Given the description of an element on the screen output the (x, y) to click on. 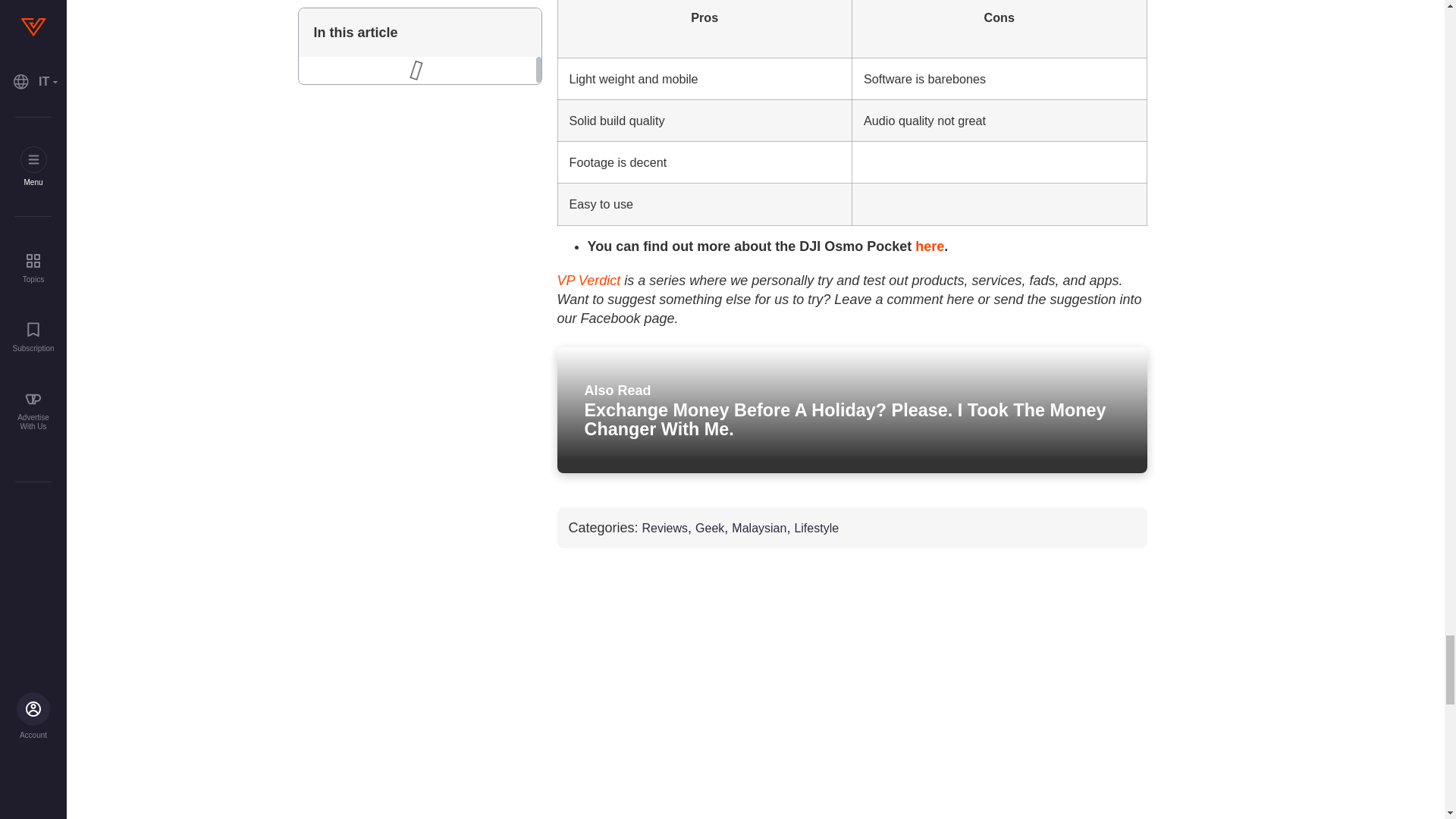
Malaysian (759, 528)
here (929, 246)
VP Verdict (588, 280)
Lifestyle (815, 528)
Geek (709, 528)
Reviews (664, 528)
